Given the description of an element on the screen output the (x, y) to click on. 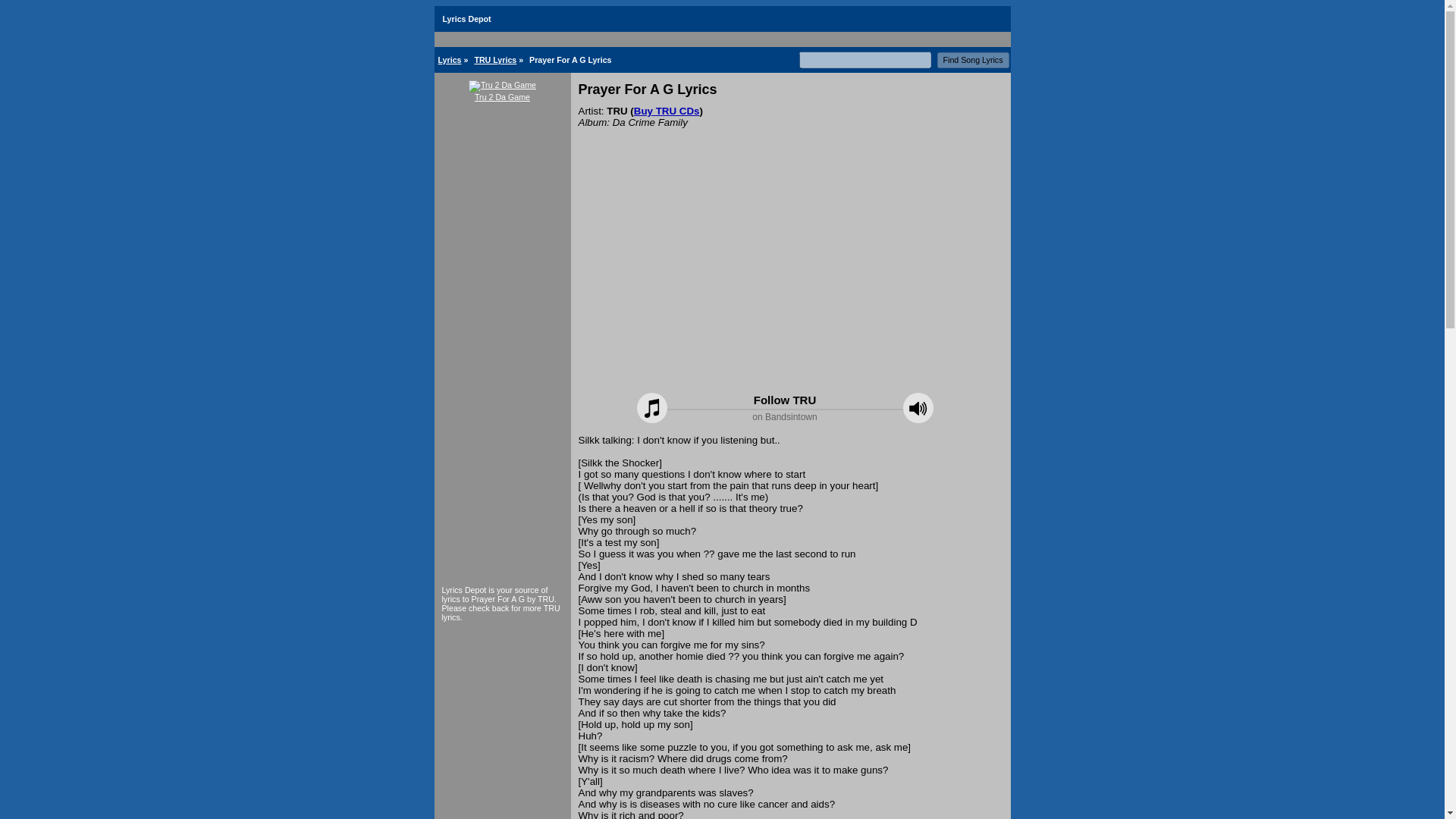
Lyrics (449, 59)
Advertisement (790, 282)
Buy TRU CDs (666, 111)
Find Song Lyrics (973, 59)
TRU Lyrics (495, 59)
Find Song Lyrics (973, 59)
Tru 2 Da Game (501, 90)
